Given the description of an element on the screen output the (x, y) to click on. 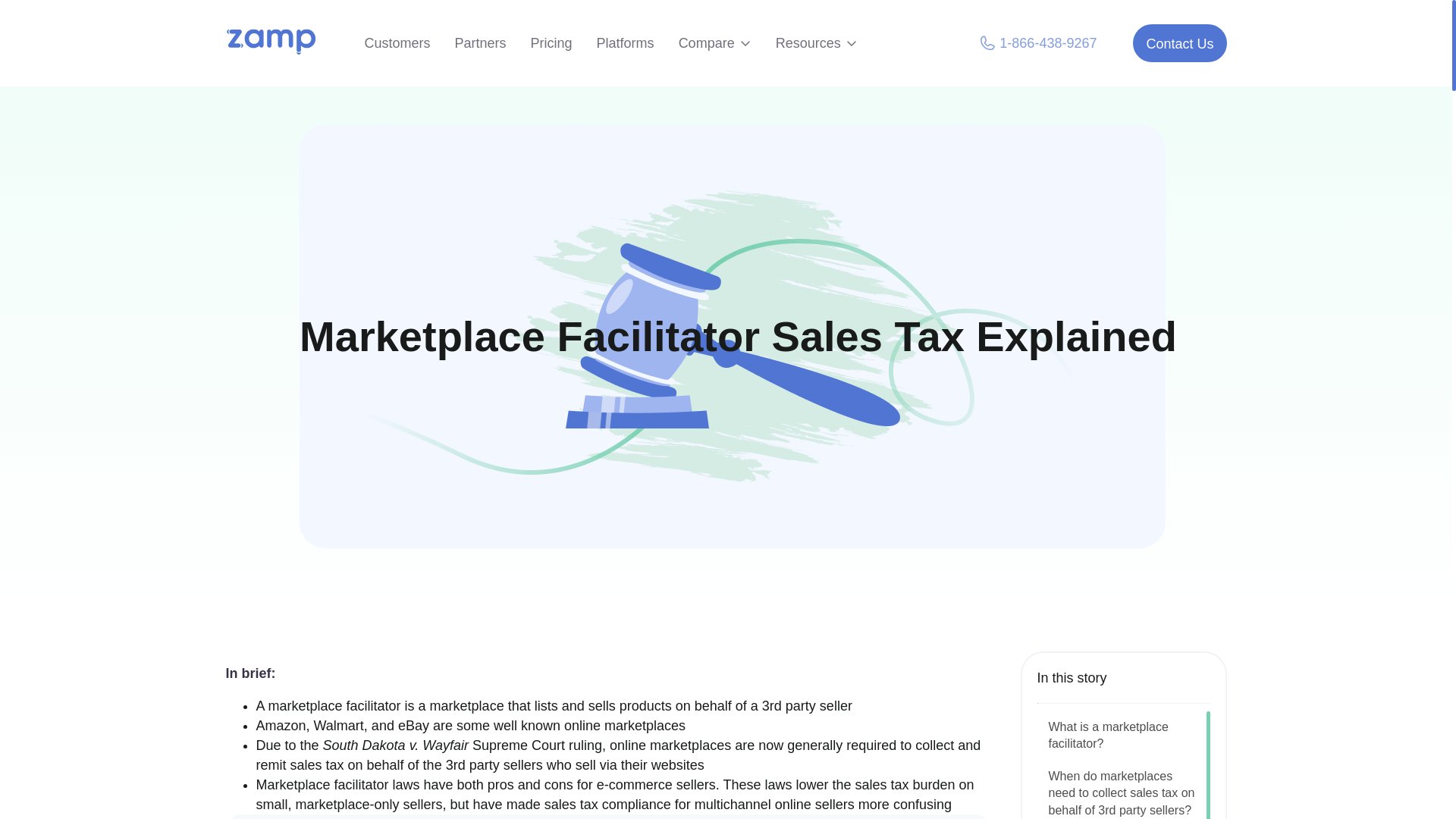
Customers (396, 43)
Contact Us (1178, 43)
Compare (714, 43)
Platforms (624, 43)
Pricing (551, 43)
Resource Center (351, 326)
Sales Tax 101 (456, 326)
Marketplace Facilitator Sales Tax Explained (652, 326)
Resources (816, 43)
1-866-438-9267 (1037, 43)
